Given the description of an element on the screen output the (x, y) to click on. 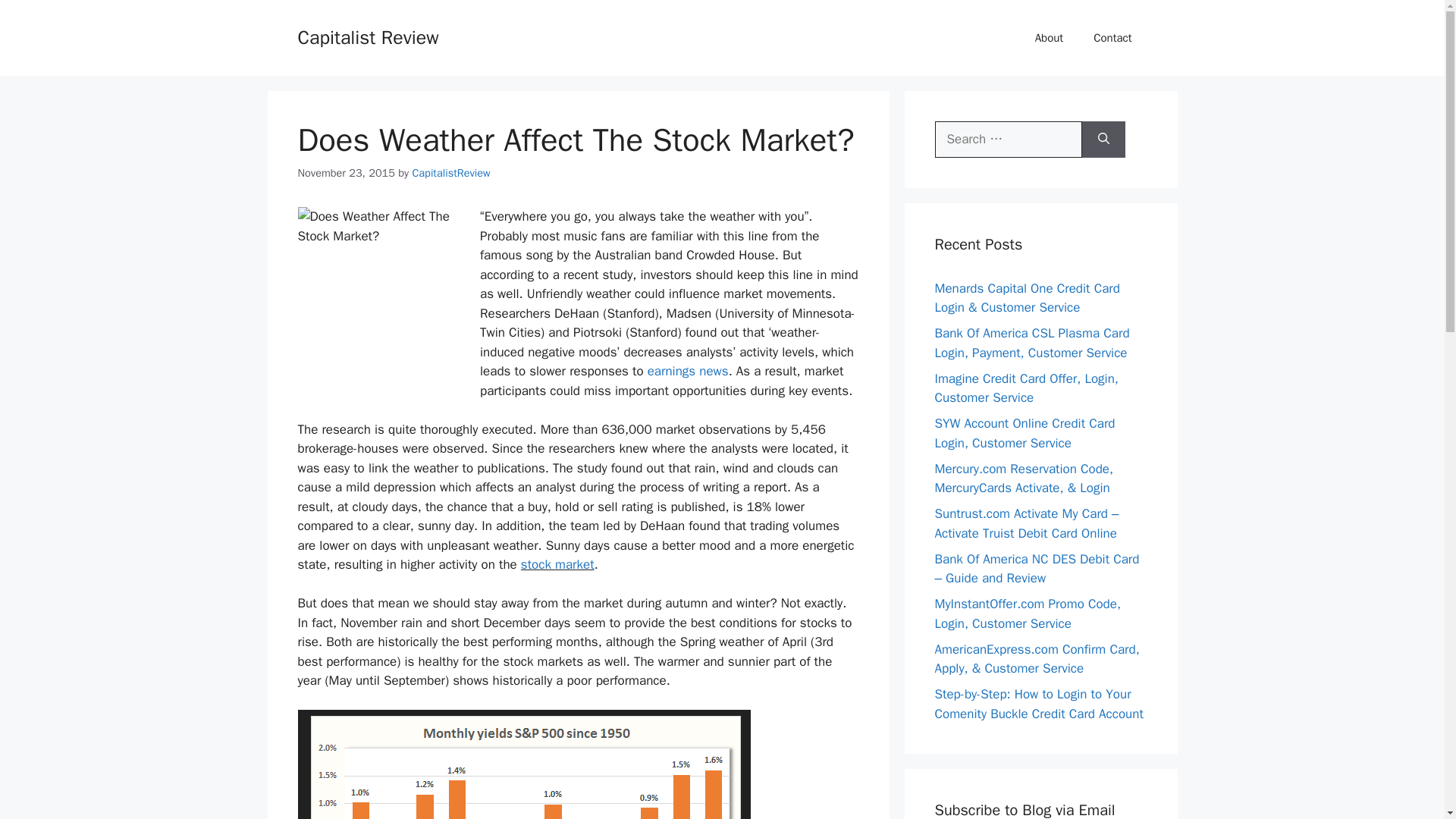
About (1049, 37)
stock market (557, 564)
Capitalist Review (367, 37)
earnings news (688, 371)
SYW Account Online Credit Card Login, Customer Service (1024, 433)
MyInstantOffer.com Promo Code, Login, Customer Service (1027, 613)
CapitalistReview (450, 172)
Contact (1112, 37)
Search for: (1007, 139)
Imagine Credit Card Offer, Login, Customer Service (1026, 387)
View all posts by CapitalistReview (450, 172)
